Given the description of an element on the screen output the (x, y) to click on. 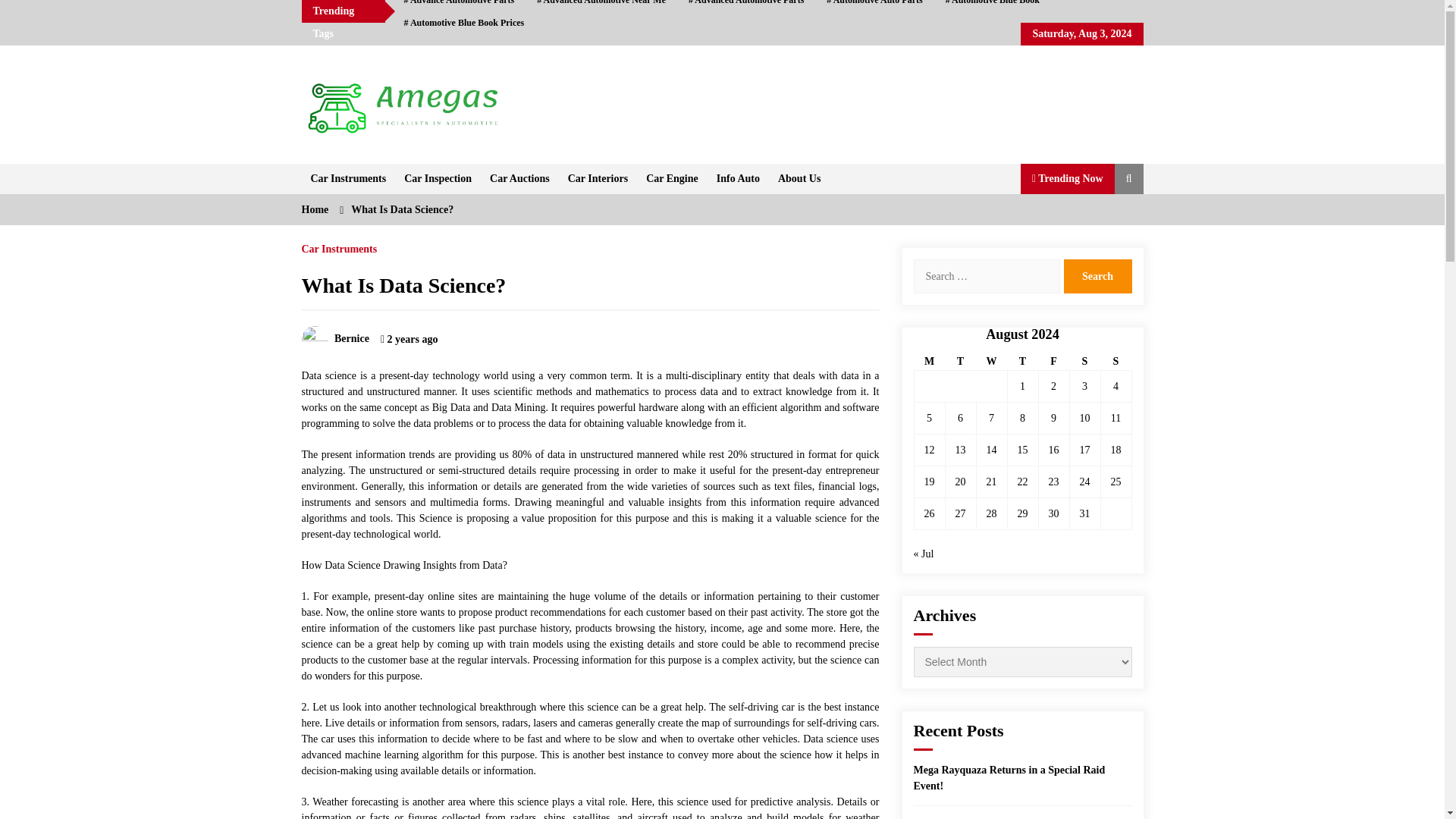
Advanced Automotive Parts (746, 5)
Search (1096, 276)
Monday (929, 361)
Wednesday (991, 361)
Car Auctions (519, 178)
Automotive Blue Book Prices (464, 22)
Car Engine (672, 178)
Advanced Automotive Near Me (601, 5)
Sunday (1115, 361)
Thursday (1022, 361)
Search (1096, 276)
Automotive Auto Parts (874, 5)
Automotive Blue Book (992, 5)
Info Auto (737, 178)
About Us (798, 178)
